Given the description of an element on the screen output the (x, y) to click on. 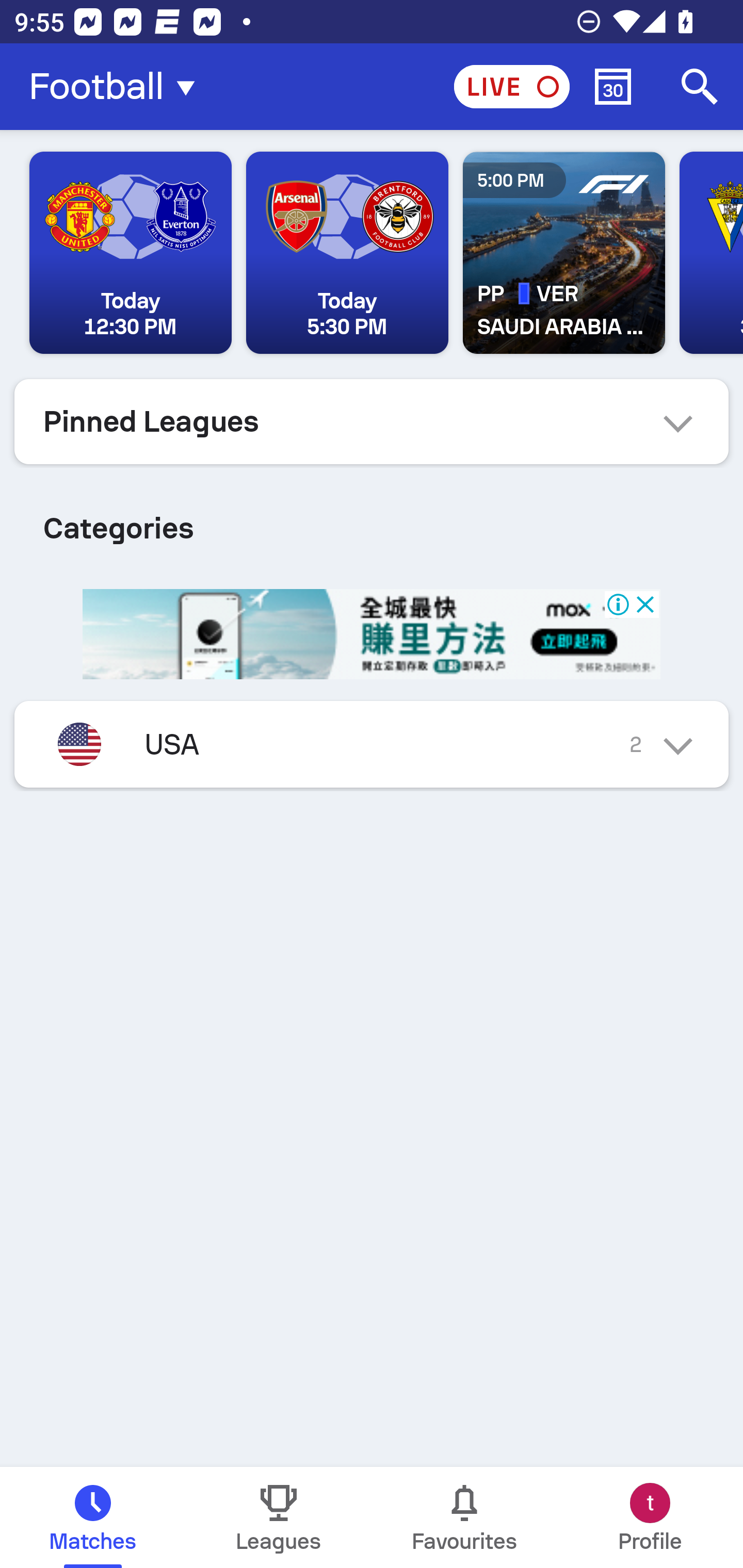
Football (117, 86)
Calendar (612, 86)
Search (699, 86)
Today
12:30 PM (130, 253)
Today
5:30 PM (346, 253)
Pinned Leagues (371, 421)
Categories (371, 520)
Advertisement (371, 635)
Advertisement (371, 634)
USA 2 (371, 743)
Leagues (278, 1517)
Favourites (464, 1517)
Profile (650, 1517)
